Given the description of an element on the screen output the (x, y) to click on. 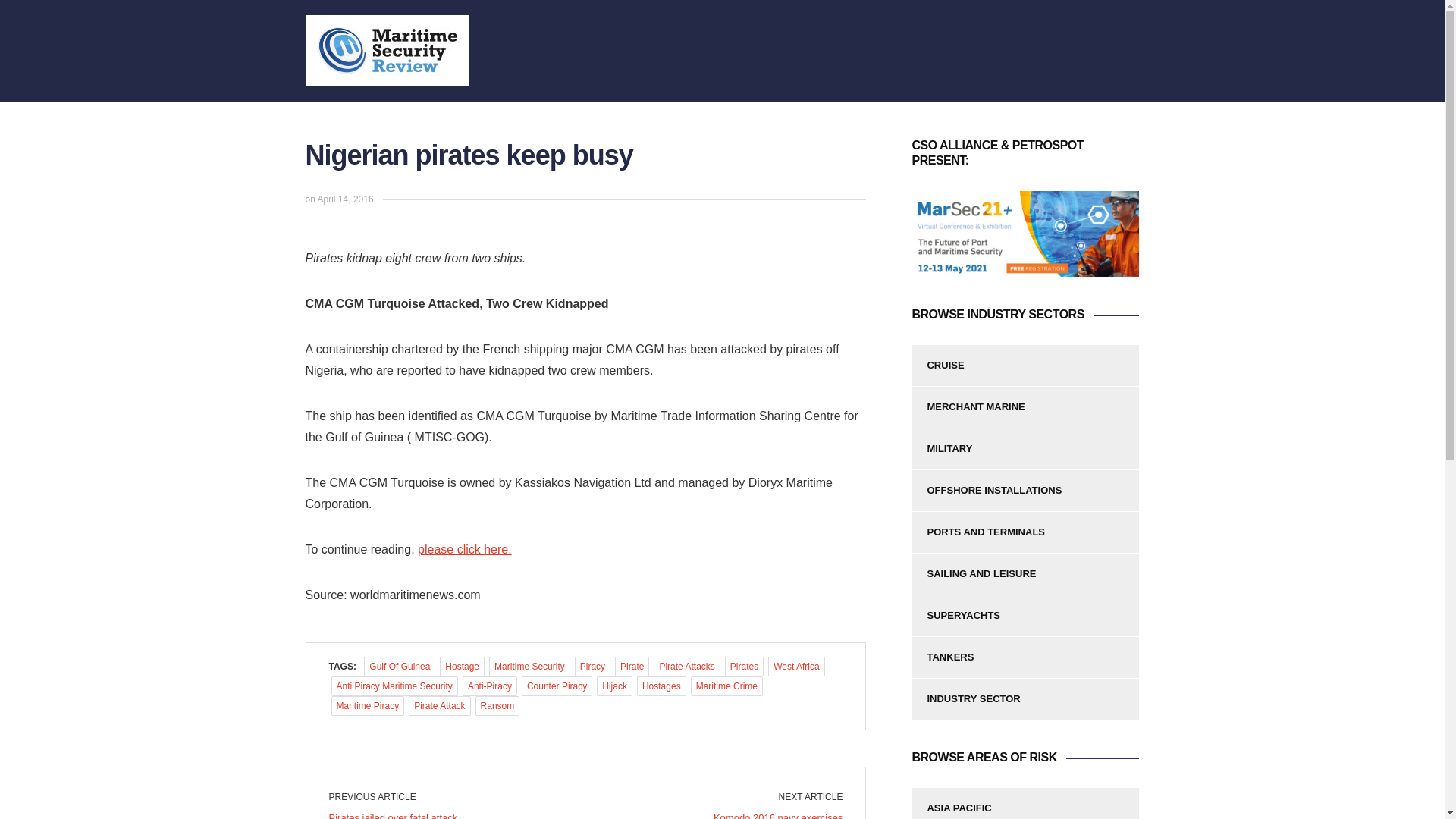
Gulf Of Guinea (399, 666)
Counter Piracy (556, 686)
Pirates (743, 666)
Hostage (461, 666)
Maritime Security (529, 666)
Hostages (661, 686)
West Africa (796, 666)
Piracy (592, 666)
Hijack (613, 686)
Pirate Attacks (686, 666)
